Given the description of an element on the screen output the (x, y) to click on. 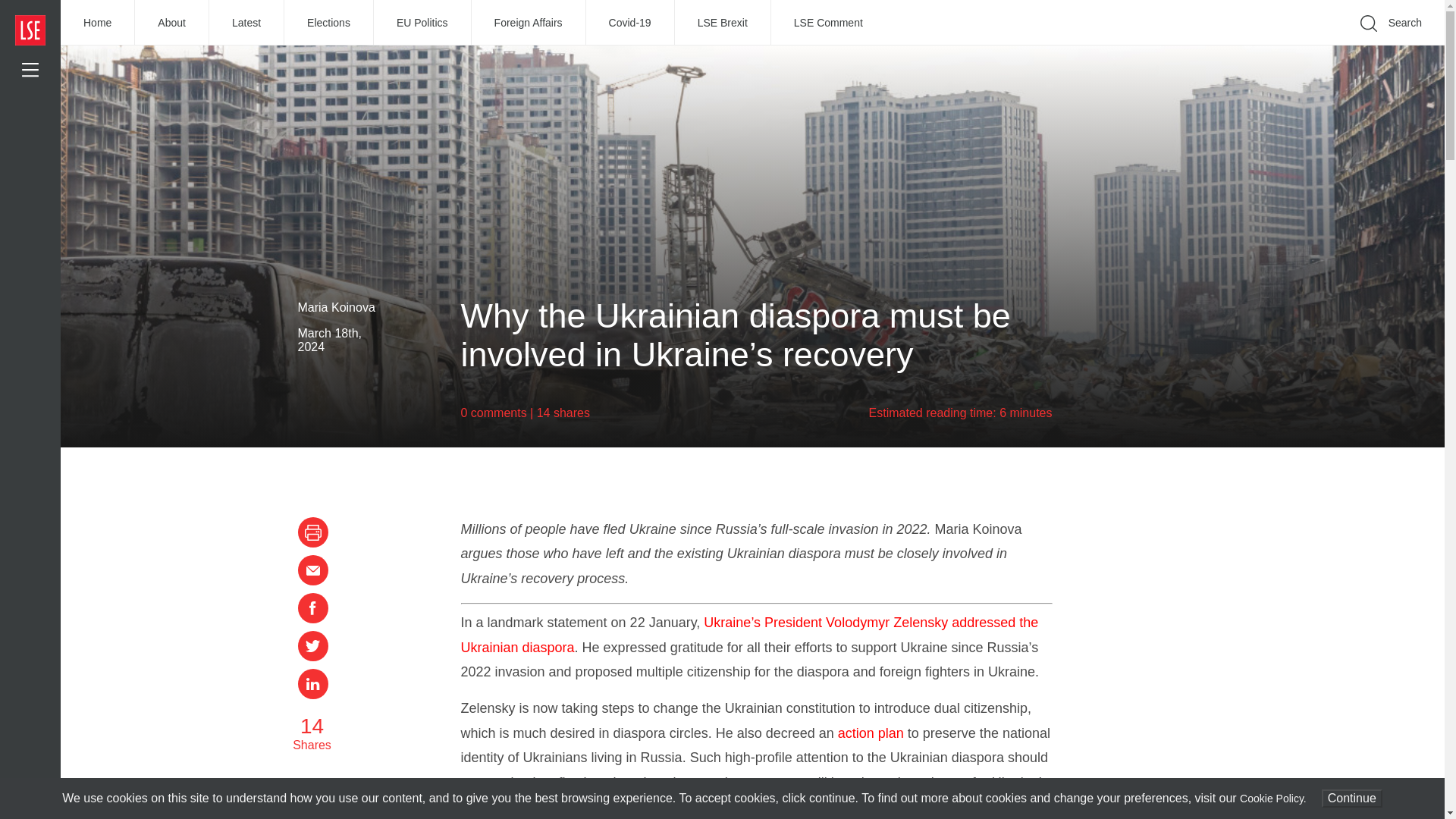
LSE Brexit (723, 22)
Go (1190, 44)
Home (98, 22)
EU Politics (422, 22)
Covid-19 (630, 22)
Foreign Affairs (528, 22)
Latest (246, 22)
About (172, 22)
0 comments (494, 412)
action plan (871, 733)
LSE Comment (828, 22)
Elections (328, 22)
